Given the description of an element on the screen output the (x, y) to click on. 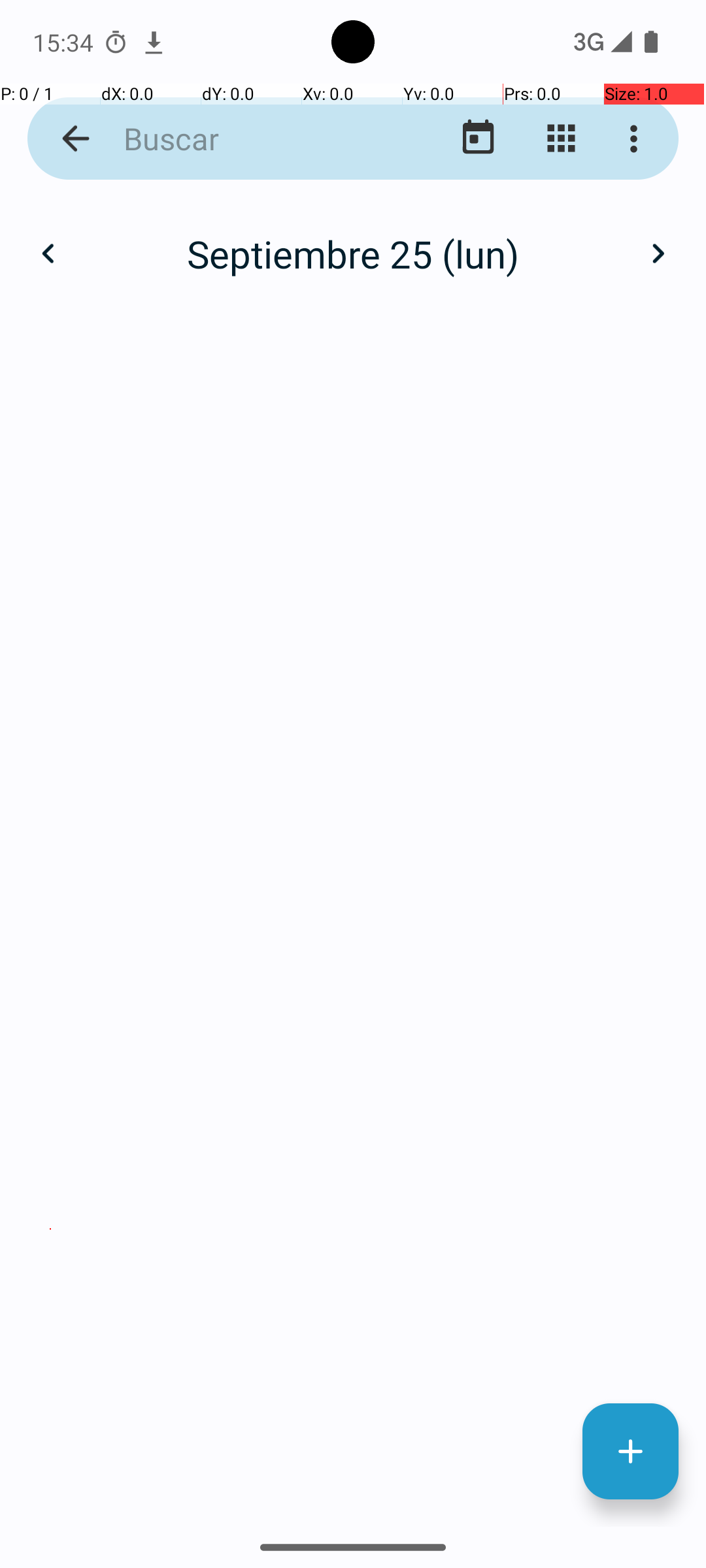
Ir al día de hoy Element type: android.widget.Button (477, 138)
Septiembre 25 (lun) Element type: android.widget.TextView (352, 253)
Septiembre Element type: android.widget.TextView (352, 239)
